Given the description of an element on the screen output the (x, y) to click on. 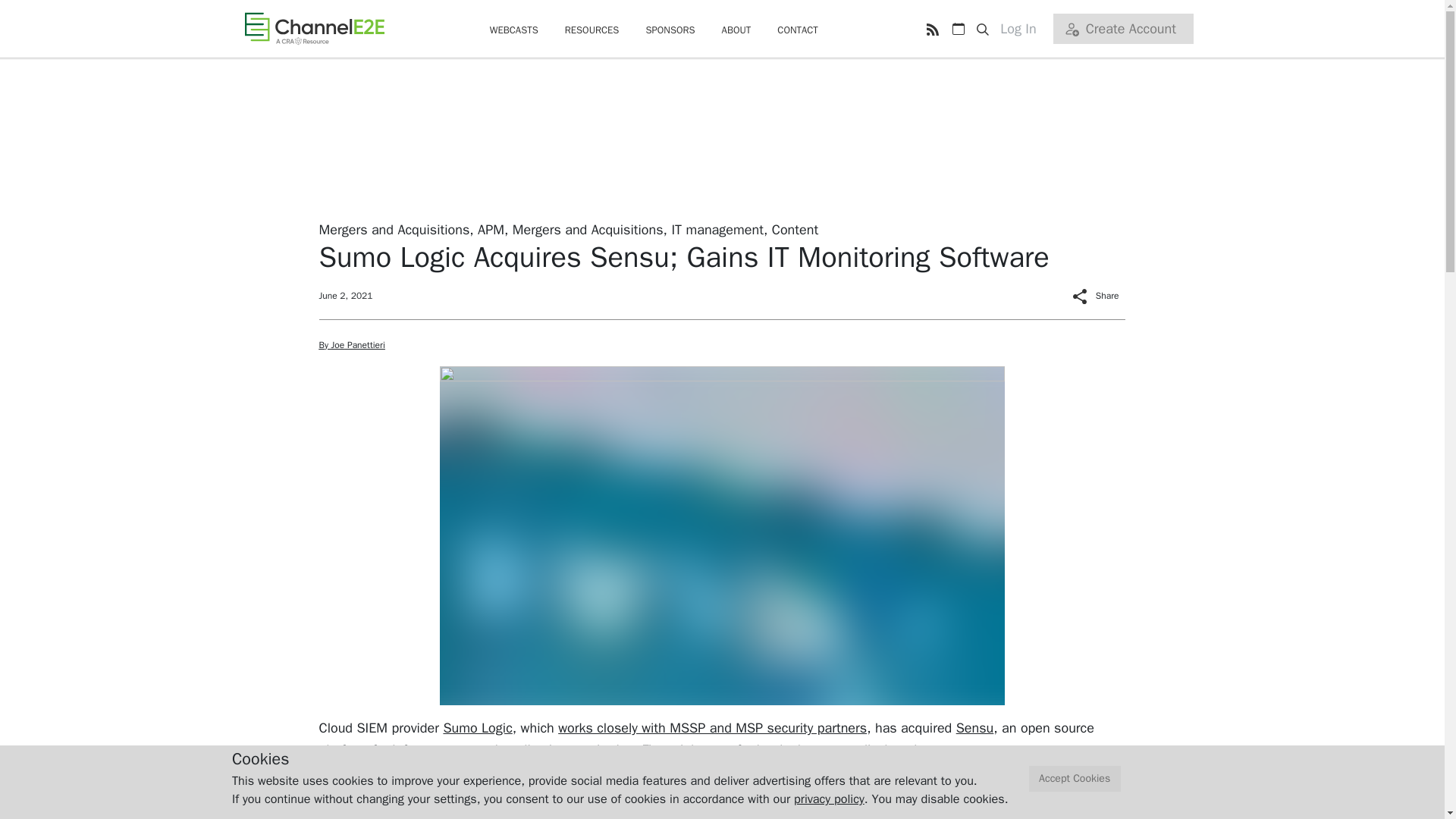
ABOUT (736, 30)
View Cybersecurity Conference Calendar (957, 28)
works closely with MSSP and MSP security partners (711, 727)
Sumo Logic (477, 727)
RESOURCES (592, 30)
Content (794, 229)
ChannelE2E (314, 27)
APM (490, 229)
Log In (1023, 29)
WEBCASTS (513, 30)
CONTACT (797, 30)
Create Account (1122, 29)
Mergers and Acquisitions (393, 229)
Sensu (975, 727)
Mergers and Acquisitions (587, 229)
